Given the description of an element on the screen output the (x, y) to click on. 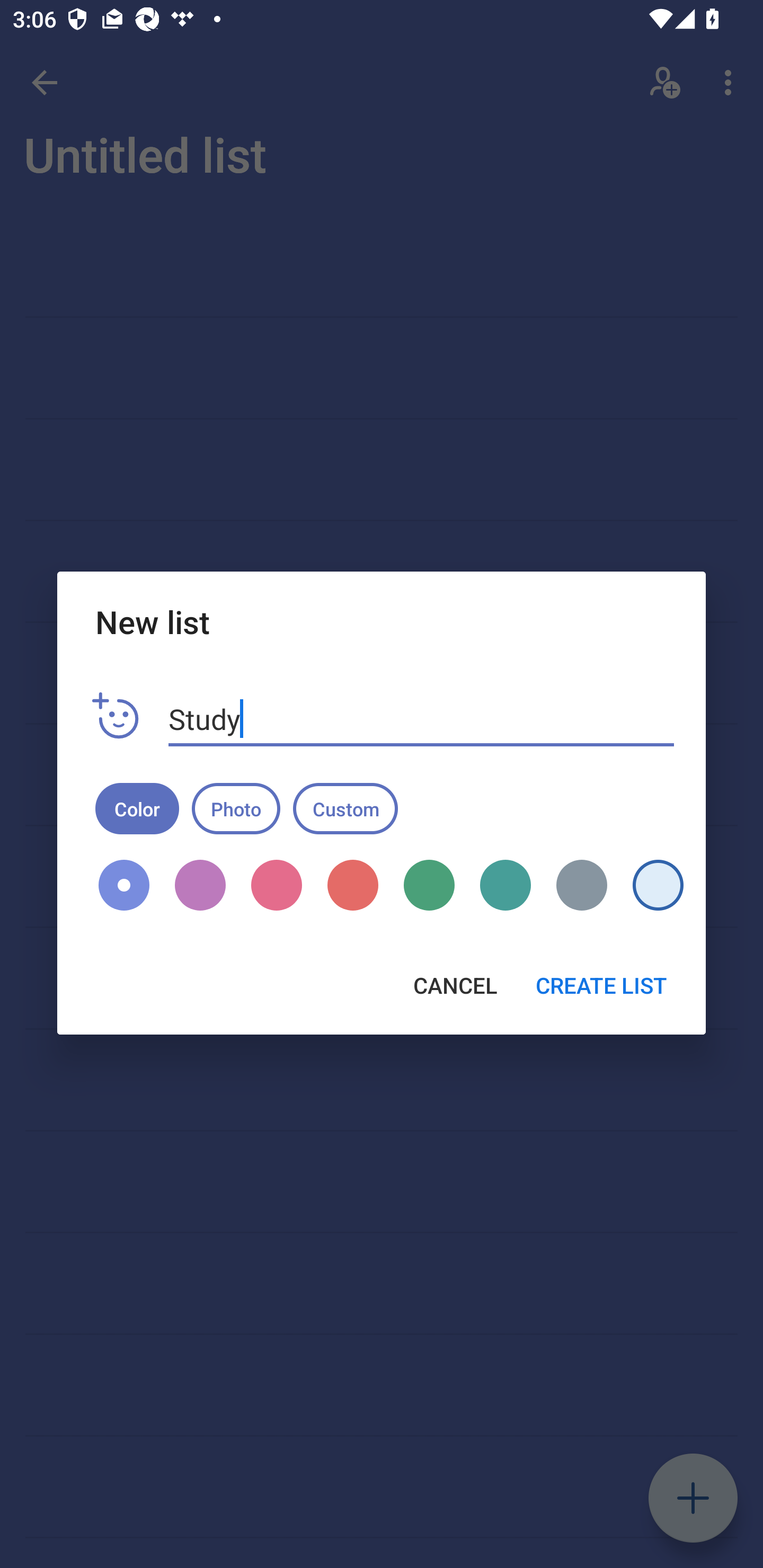
CREATE LIST (601, 985)
